Given the description of an element on the screen output the (x, y) to click on. 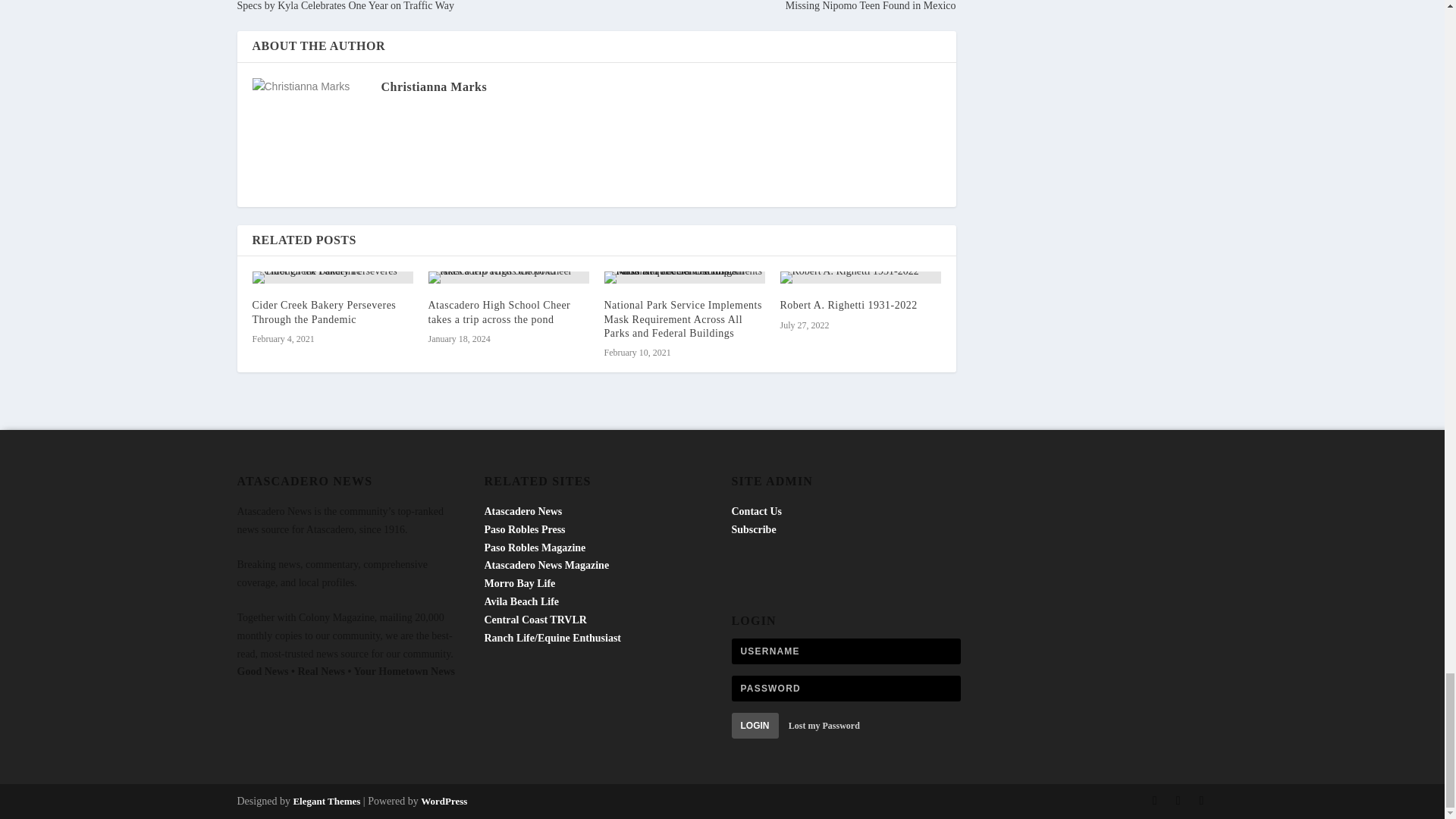
Atascadero High School Cheer takes a trip across the pond (499, 311)
Cider Creek Bakery Perseveres Through the Pandemic (323, 311)
View all posts by Christianna Marks (433, 86)
Christianna Marks (433, 86)
Robert A. Righetti 1931-2022 (847, 305)
